Given the description of an element on the screen output the (x, y) to click on. 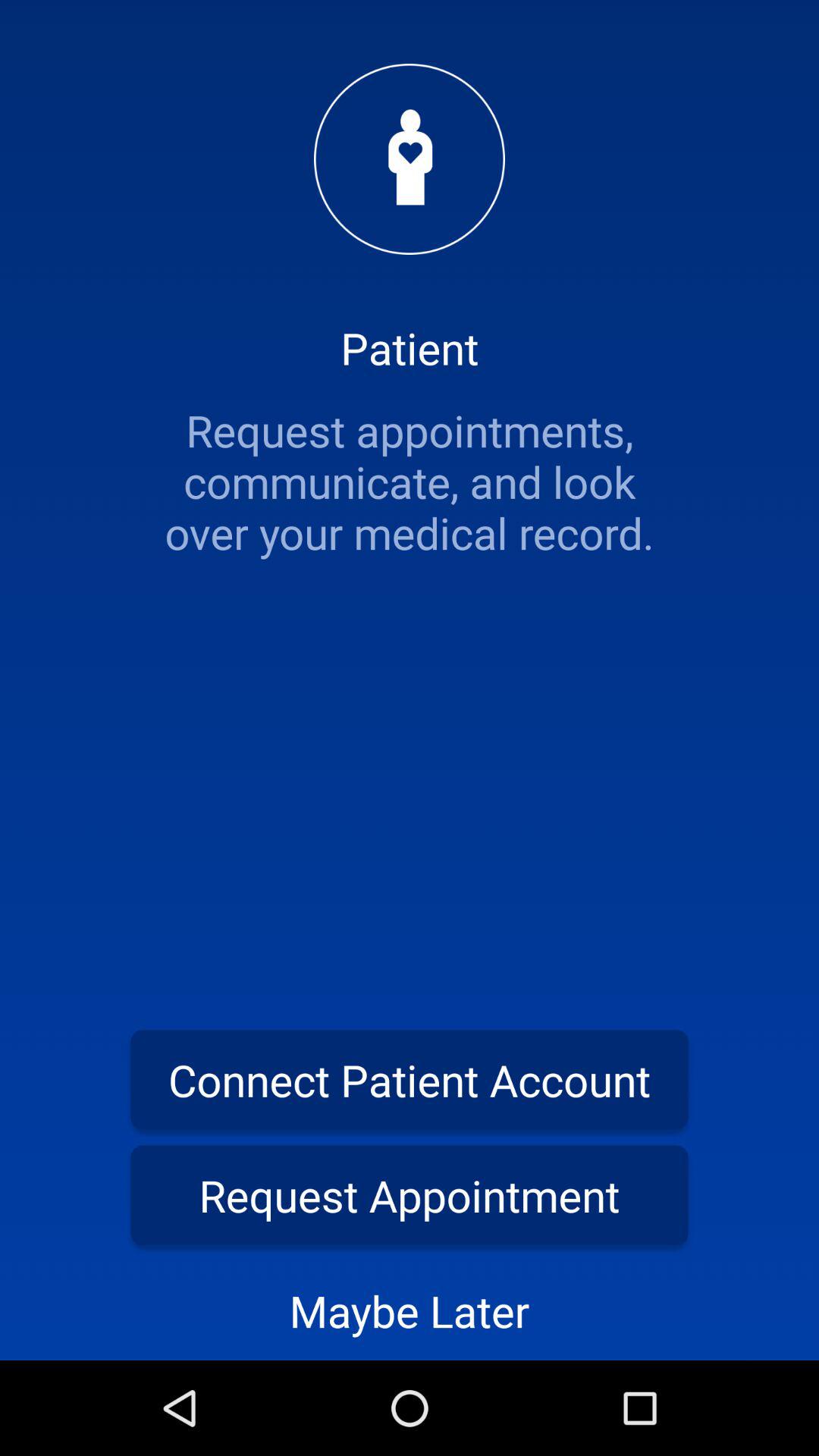
scroll to the connect patient account icon (409, 1079)
